Given the description of an element on the screen output the (x, y) to click on. 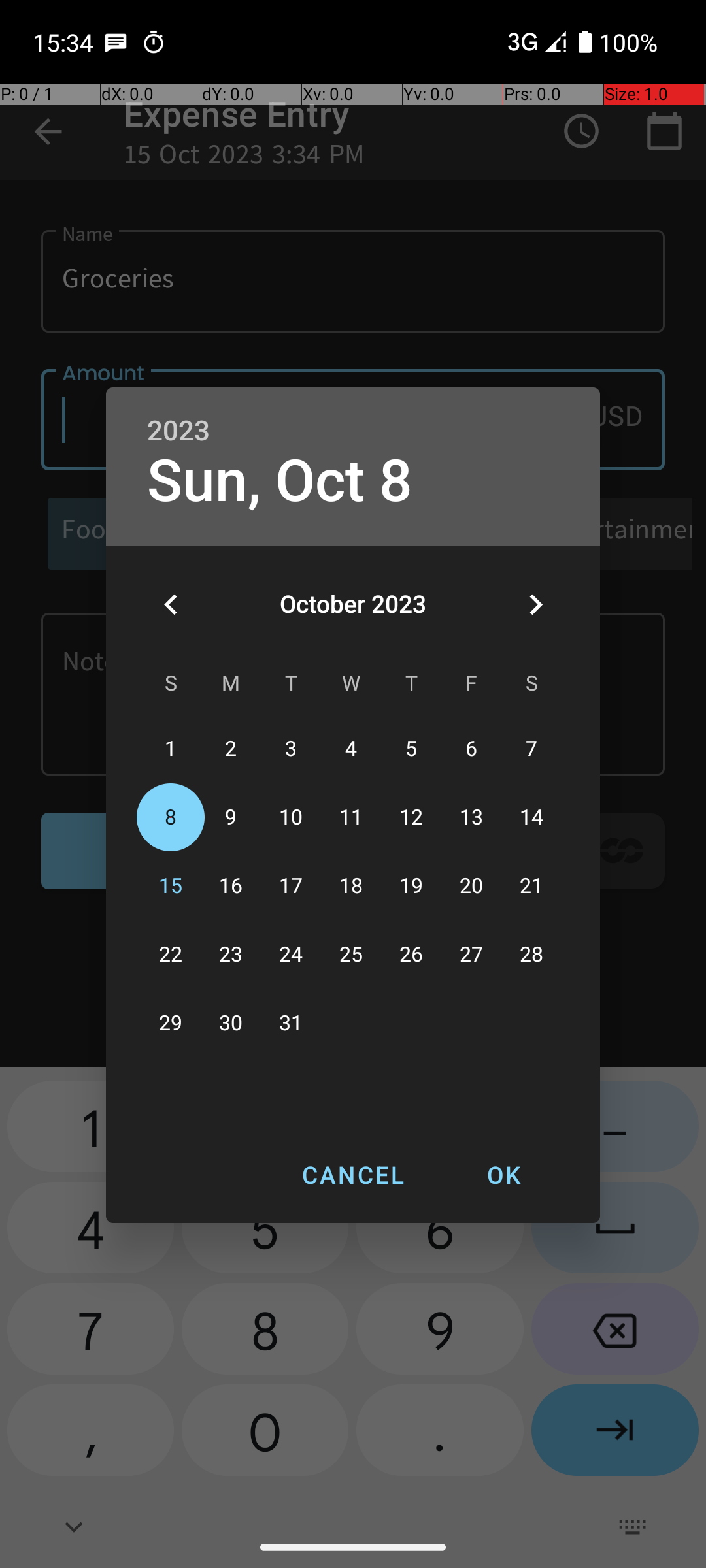
2023 Element type: android.widget.TextView (178, 430)
Sun, Oct 8 Element type: android.widget.TextView (279, 480)
Previous month Element type: android.widget.ImageButton (170, 604)
Next month Element type: android.widget.ImageButton (535, 604)
13 Element type: android.view.View (471, 817)
17 Element type: android.view.View (290, 885)
18 Element type: android.view.View (350, 885)
21 Element type: android.view.View (531, 885)
22 Element type: android.view.View (170, 954)
23 Element type: android.view.View (230, 954)
24 Element type: android.view.View (290, 954)
26 Element type: android.view.View (411, 954)
27 Element type: android.view.View (471, 954)
28 Element type: android.view.View (531, 954)
29 Element type: android.view.View (170, 1023)
31 Element type: android.view.View (290, 1023)
